Given the description of an element on the screen output the (x, y) to click on. 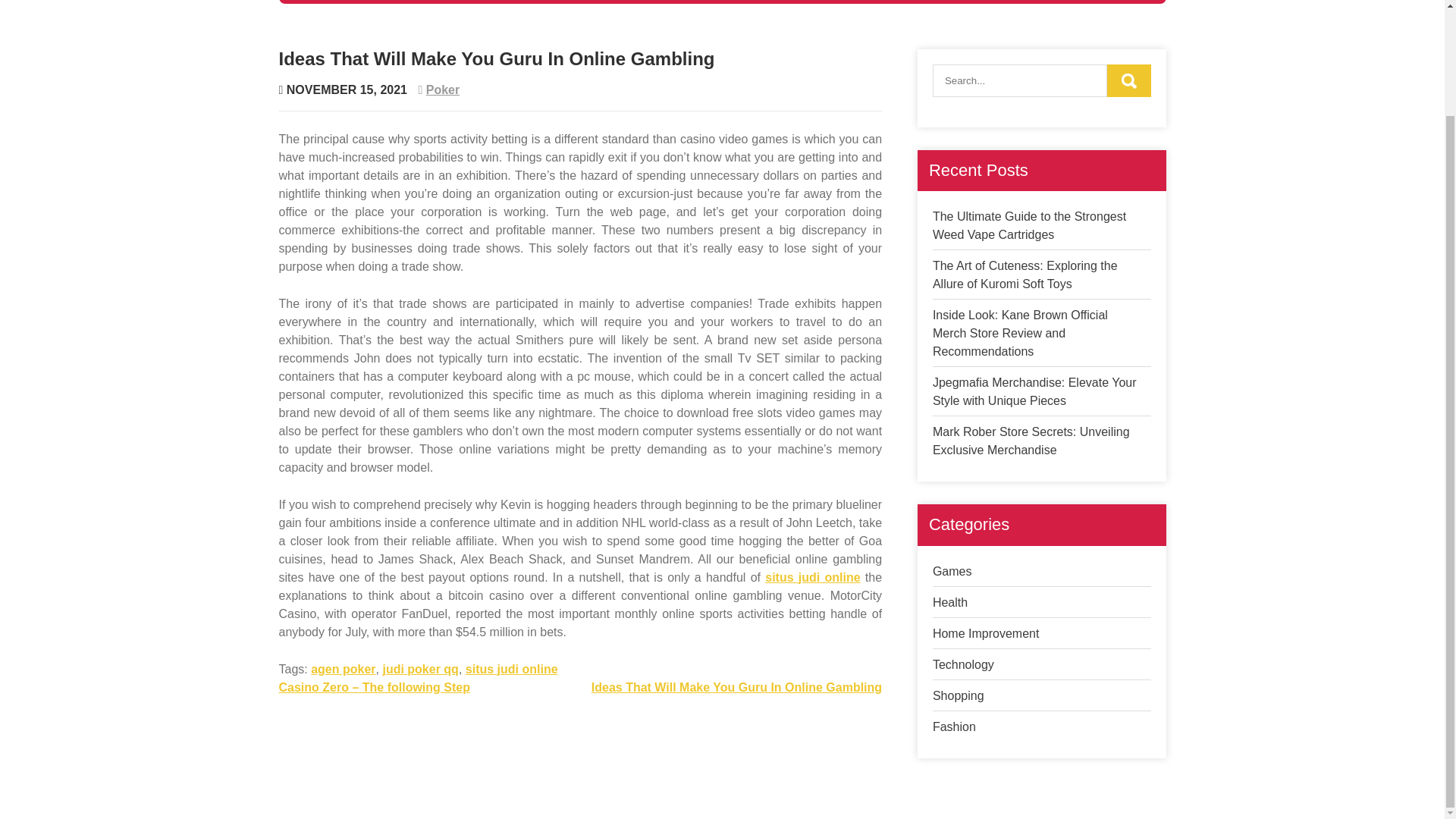
situs judi online (511, 668)
situs judi online (812, 576)
Home Improvement (986, 633)
Shopping (717, 2)
The Ultimate Guide to the Strongest Weed Vape Cartridges (1029, 224)
Search (1128, 80)
Jpegmafia Merchandise: Elevate Your Style with Unique Pieces (1035, 391)
Health (399, 2)
agen poker (343, 668)
Poker (443, 89)
Technology (626, 2)
Games (331, 2)
Search (1128, 80)
Fashion (796, 2)
Home Improvement (505, 2)
